Given the description of an element on the screen output the (x, y) to click on. 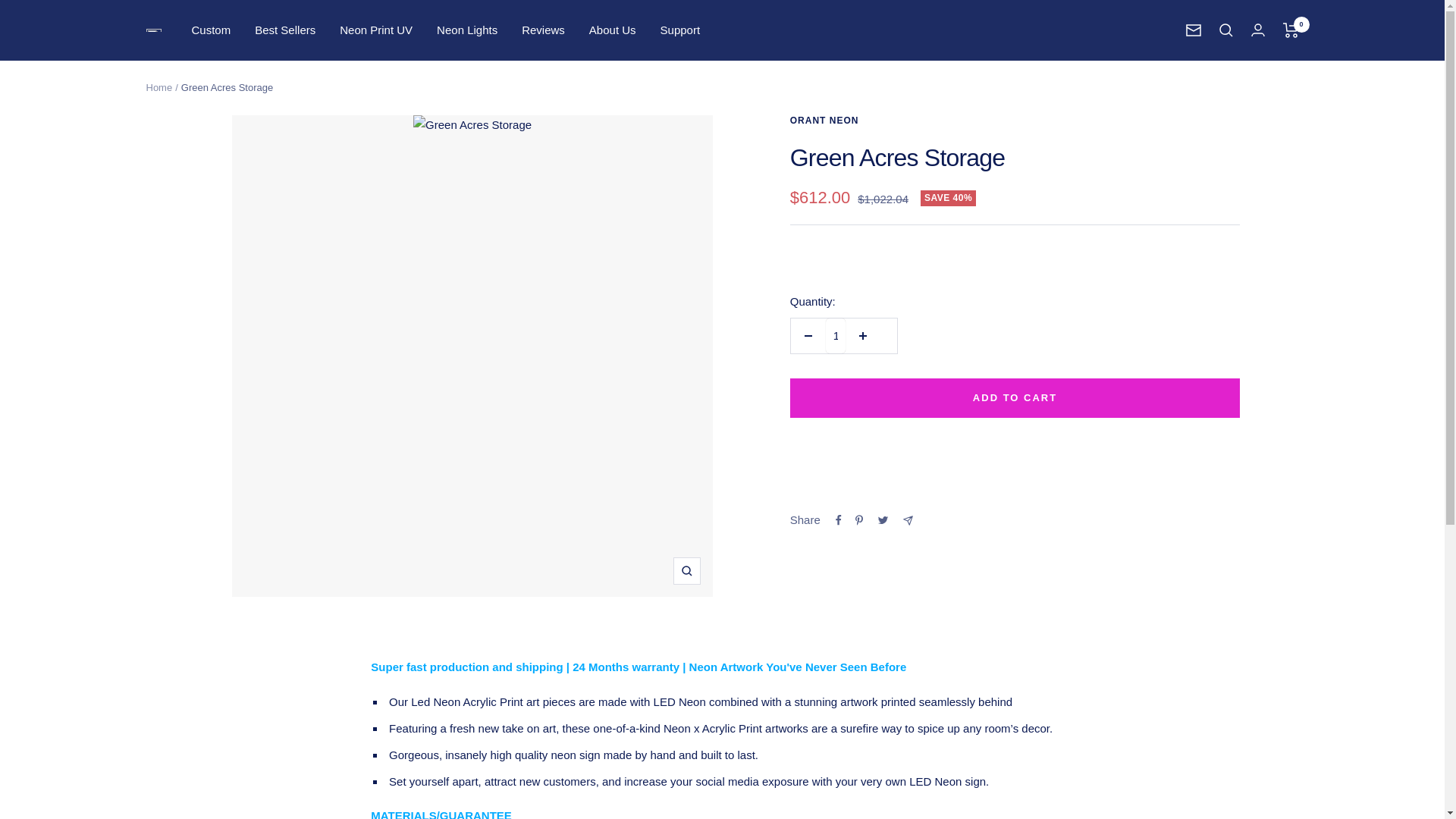
Best Sellers (284, 30)
Newsletter (1193, 30)
Reviews (542, 30)
0 (1290, 29)
Neon Print UV (375, 30)
Neon Lights (466, 30)
1 (835, 335)
Orant Neon (152, 29)
Support (680, 30)
Custom (210, 30)
About Us (612, 30)
